Given the description of an element on the screen output the (x, y) to click on. 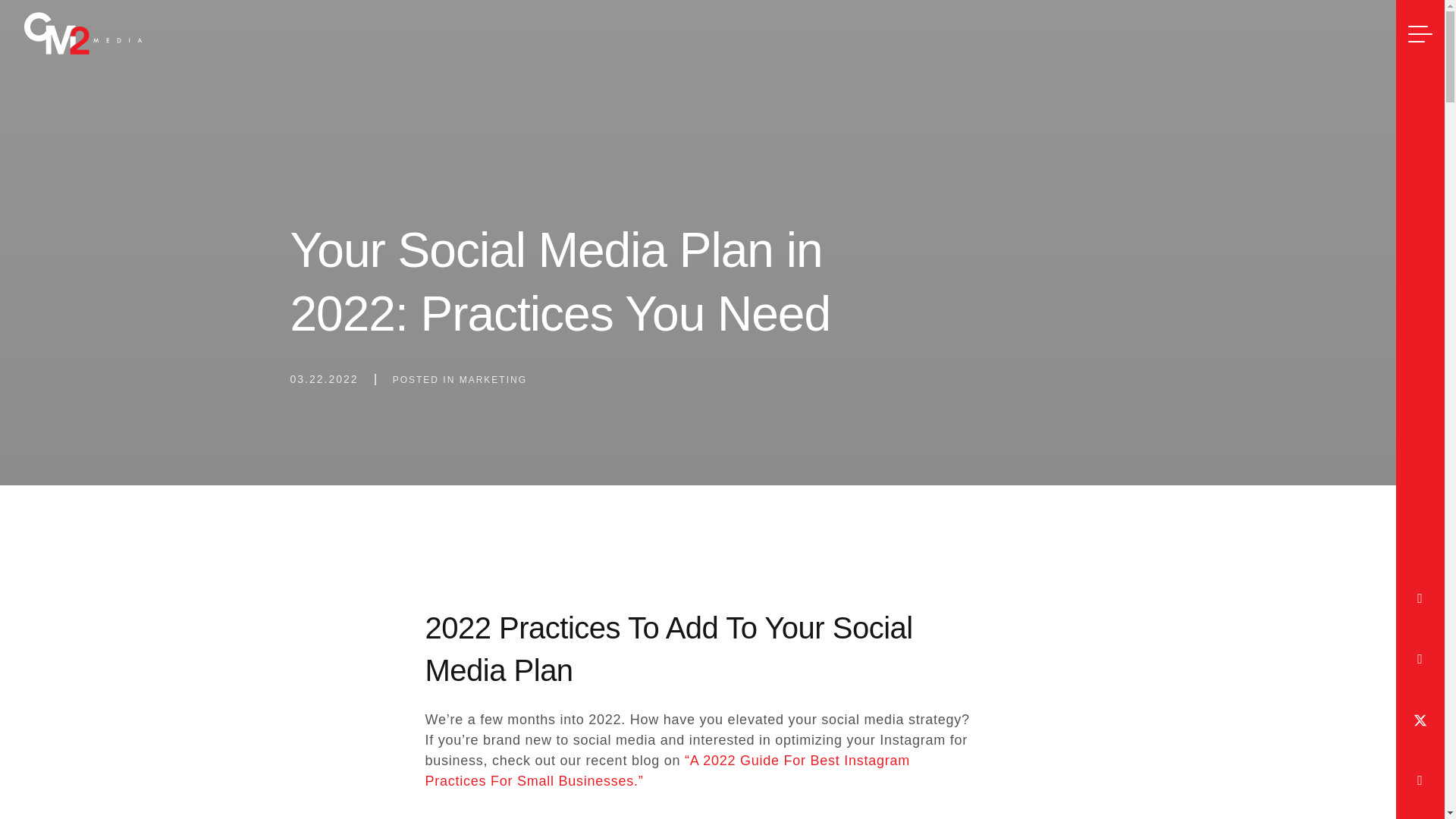
Facebook (1419, 600)
Linkedin (1419, 782)
Instagram (1419, 661)
Twitter (1419, 721)
